Given the description of an element on the screen output the (x, y) to click on. 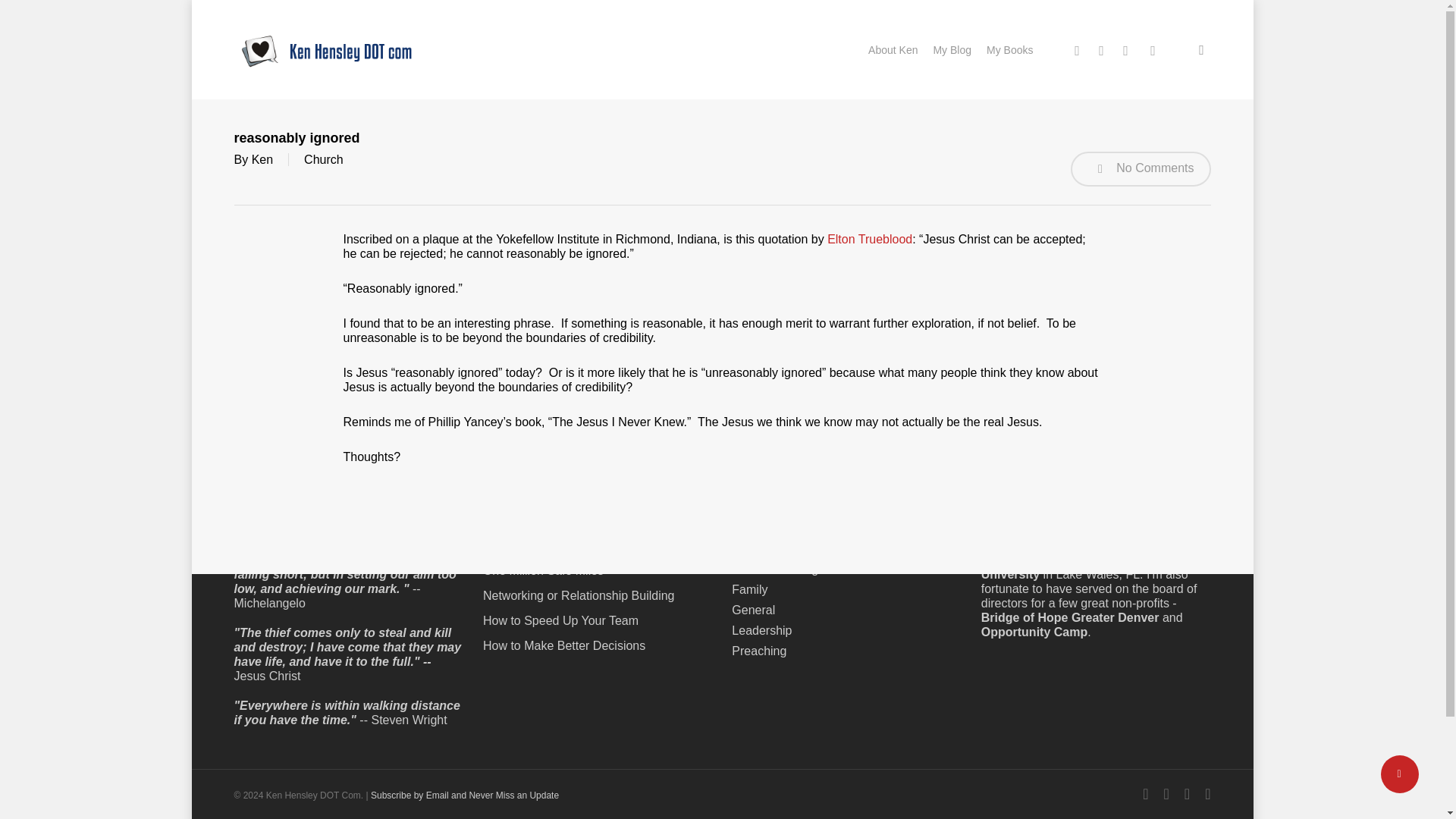
Family (749, 589)
General (753, 609)
Elton Trueblood (869, 238)
My Books (1009, 49)
youtube (1152, 48)
Networking or Relationship Building (598, 595)
No Comments (1140, 168)
One Million Safe Miles (598, 570)
Opportunity Camp (1034, 631)
How to Make Better Decisions (598, 645)
Posts by Ken (262, 159)
Bridge of Hope Greater Denver (1069, 617)
About Ken (892, 49)
search (1200, 49)
Pickleball Principles for a Better Life (598, 545)
